Given the description of an element on the screen output the (x, y) to click on. 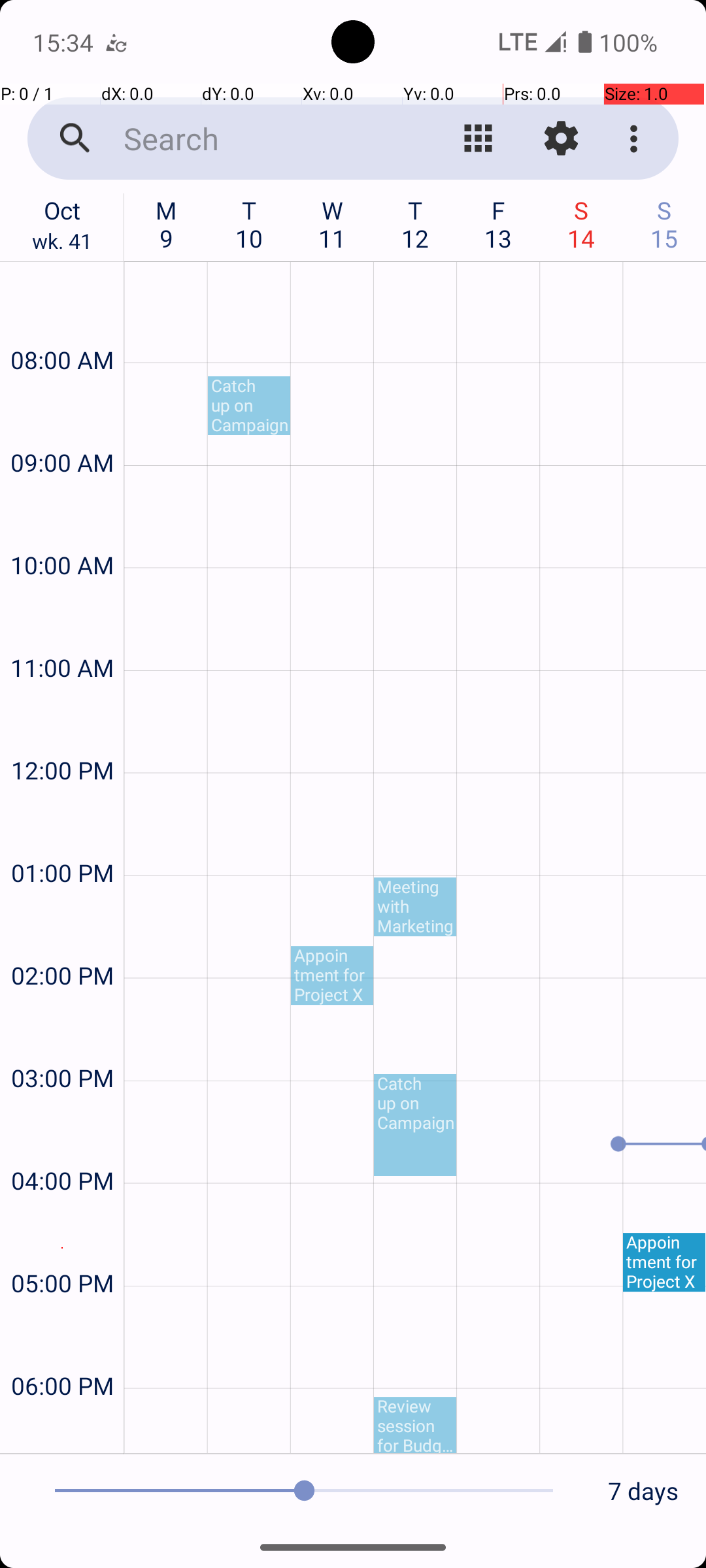
08:00 AM Element type: android.widget.TextView (62, 324)
09:00 AM Element type: android.widget.TextView (62, 427)
02:00 PM Element type: android.widget.TextView (62, 940)
03:00 PM Element type: android.widget.TextView (62, 1042)
04:00 PM Element type: android.widget.TextView (62, 1145)
05:00 PM Element type: android.widget.TextView (62, 1247)
06:00 PM Element type: android.widget.TextView (62, 1350)
07:00 PM Element type: android.widget.TextView (62, 1428)
